Given the description of an element on the screen output the (x, y) to click on. 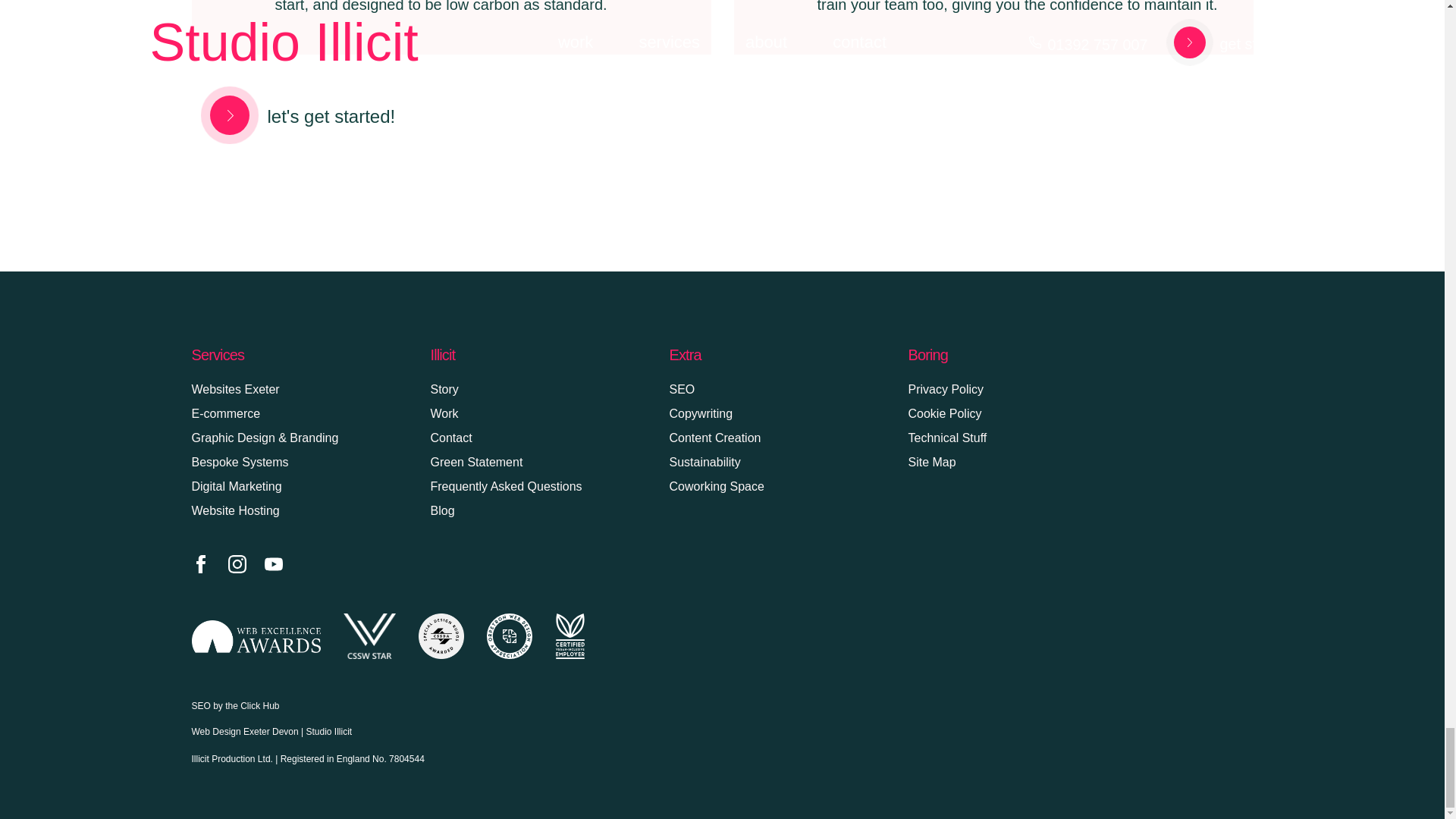
Bespoke Systems (239, 461)
Digital Marketing (235, 486)
E-commerce (225, 413)
let's get started! (292, 114)
Websites Exeter (234, 389)
